Given the description of an element on the screen output the (x, y) to click on. 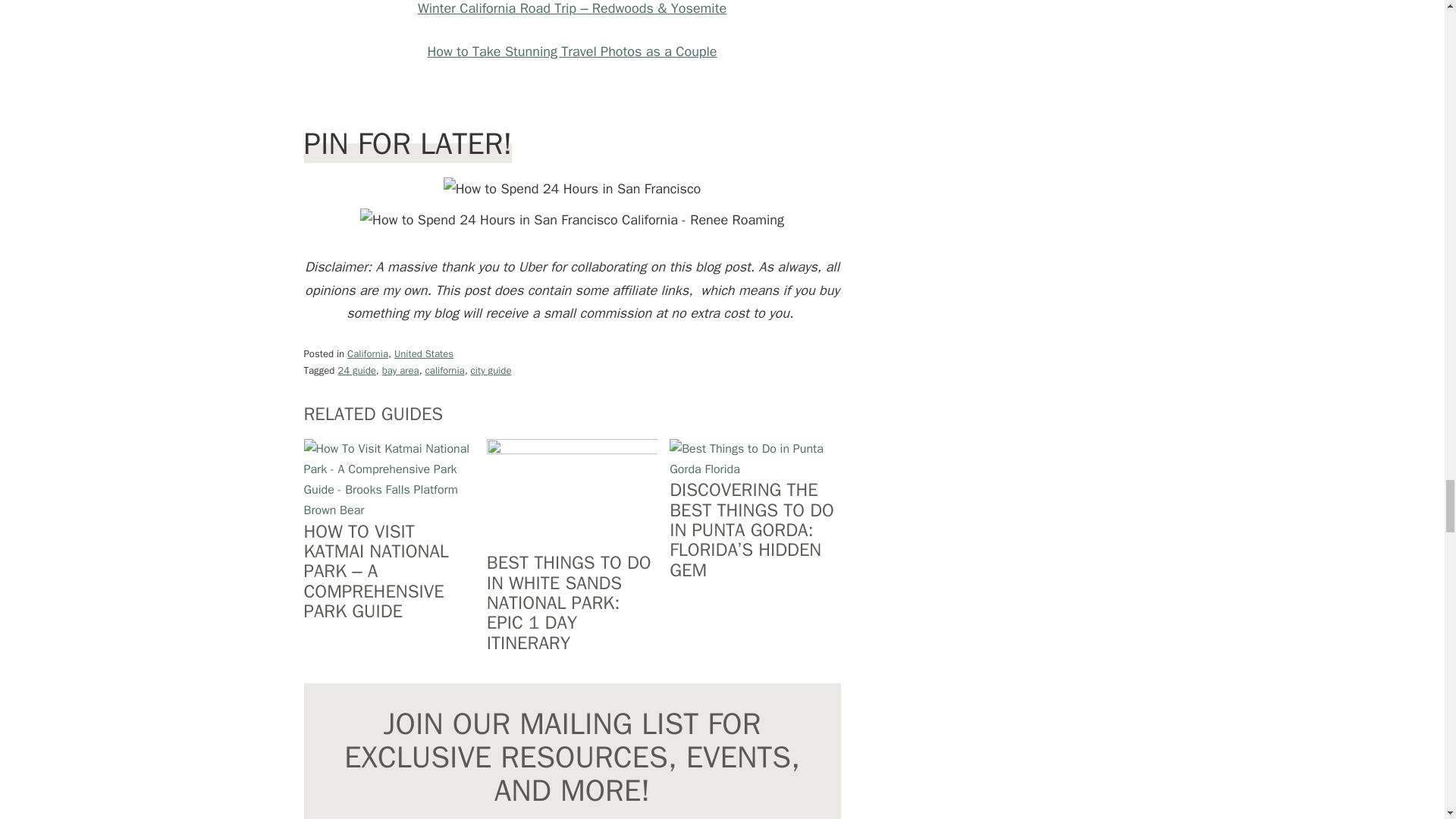
How to Take Stunning Travel Photos as a Couple (571, 51)
bay area (400, 369)
California (367, 353)
How to Take Stunning Travel Photos as a Couple (571, 51)
24 guide (356, 369)
United States (423, 353)
